Given the description of an element on the screen output the (x, y) to click on. 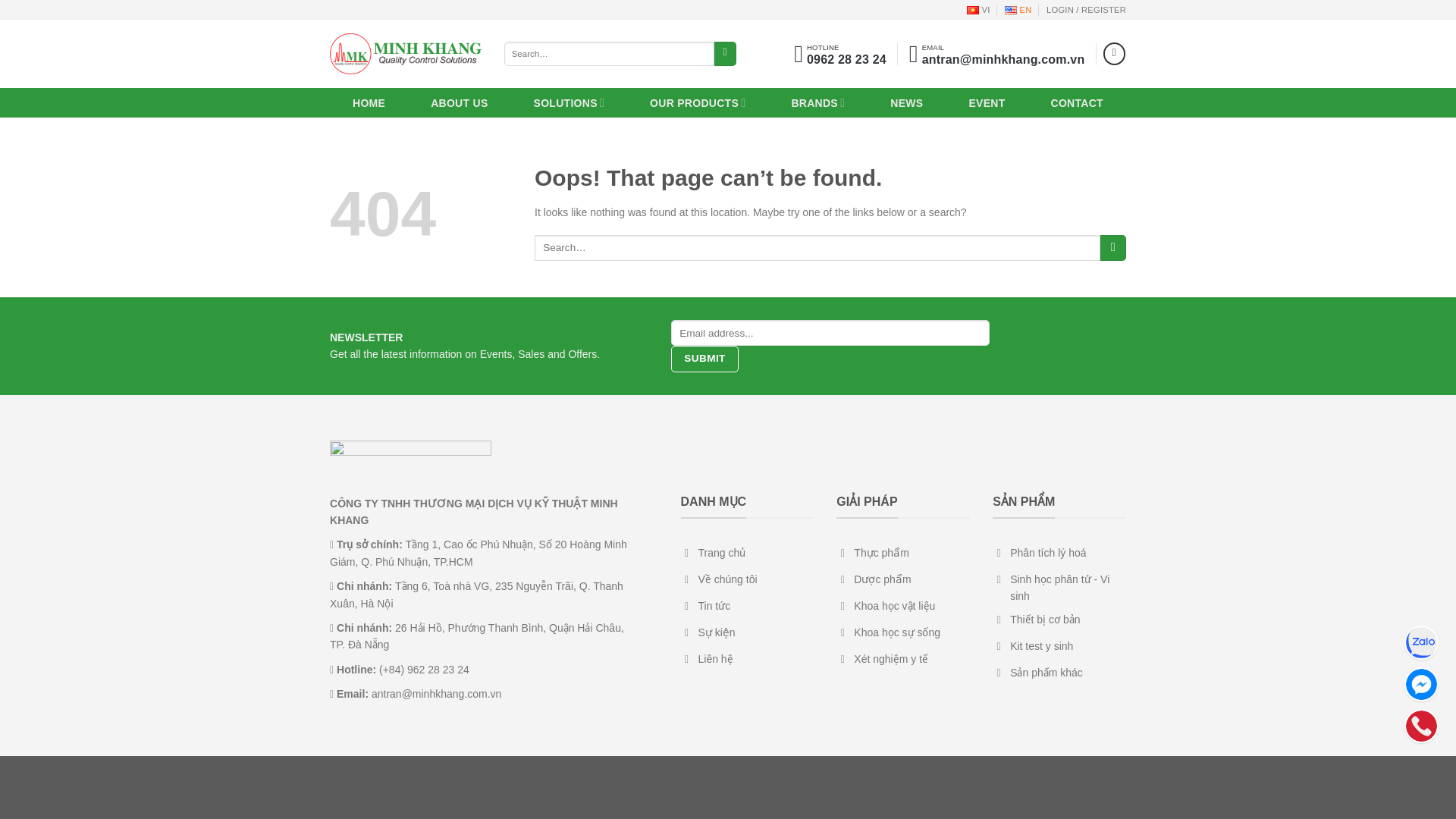
Follow on Facebook (1114, 53)
OUR PRODUCTS (697, 102)
SOLUTIONS (569, 102)
ABOUT US (458, 103)
SUBMIT (839, 53)
EN (704, 358)
Search (1017, 9)
VI (725, 53)
HOME (978, 9)
